Given the description of an element on the screen output the (x, y) to click on. 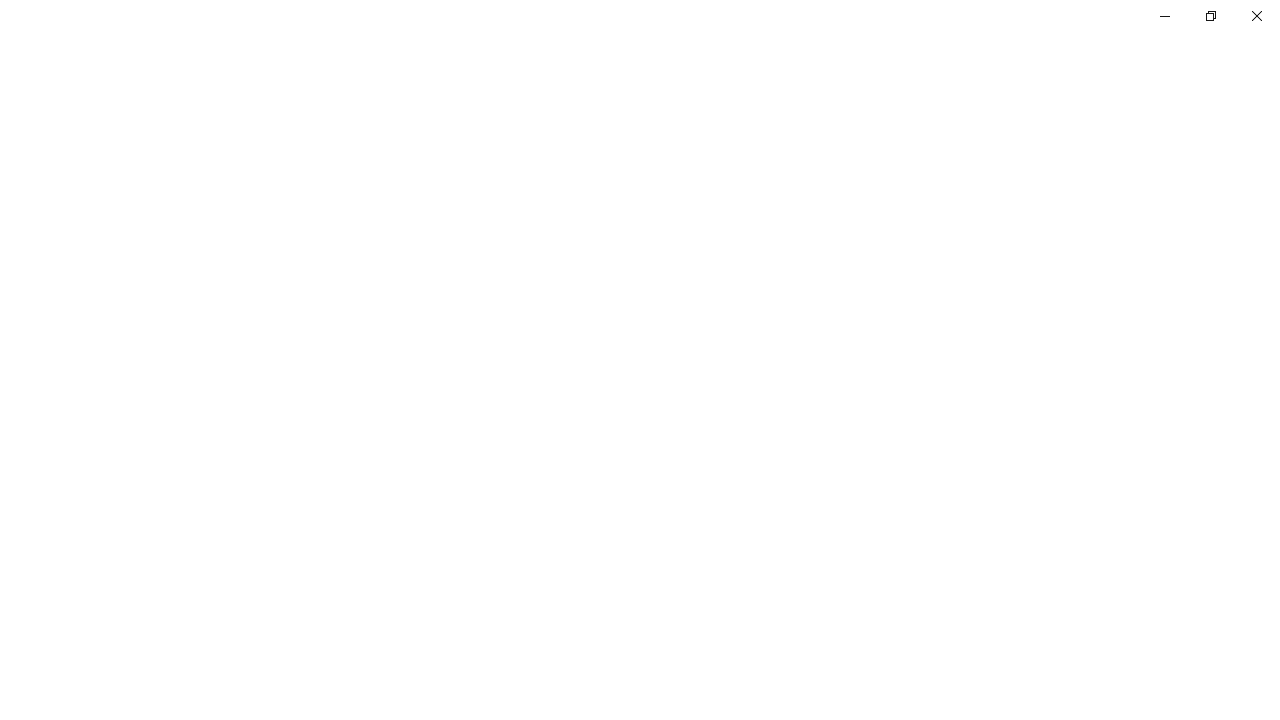
Vertical Small Decrease (1272, 103)
Minimize Settings (1164, 15)
Restore Settings (1210, 15)
Close Settings (1256, 15)
